Given the description of an element on the screen output the (x, y) to click on. 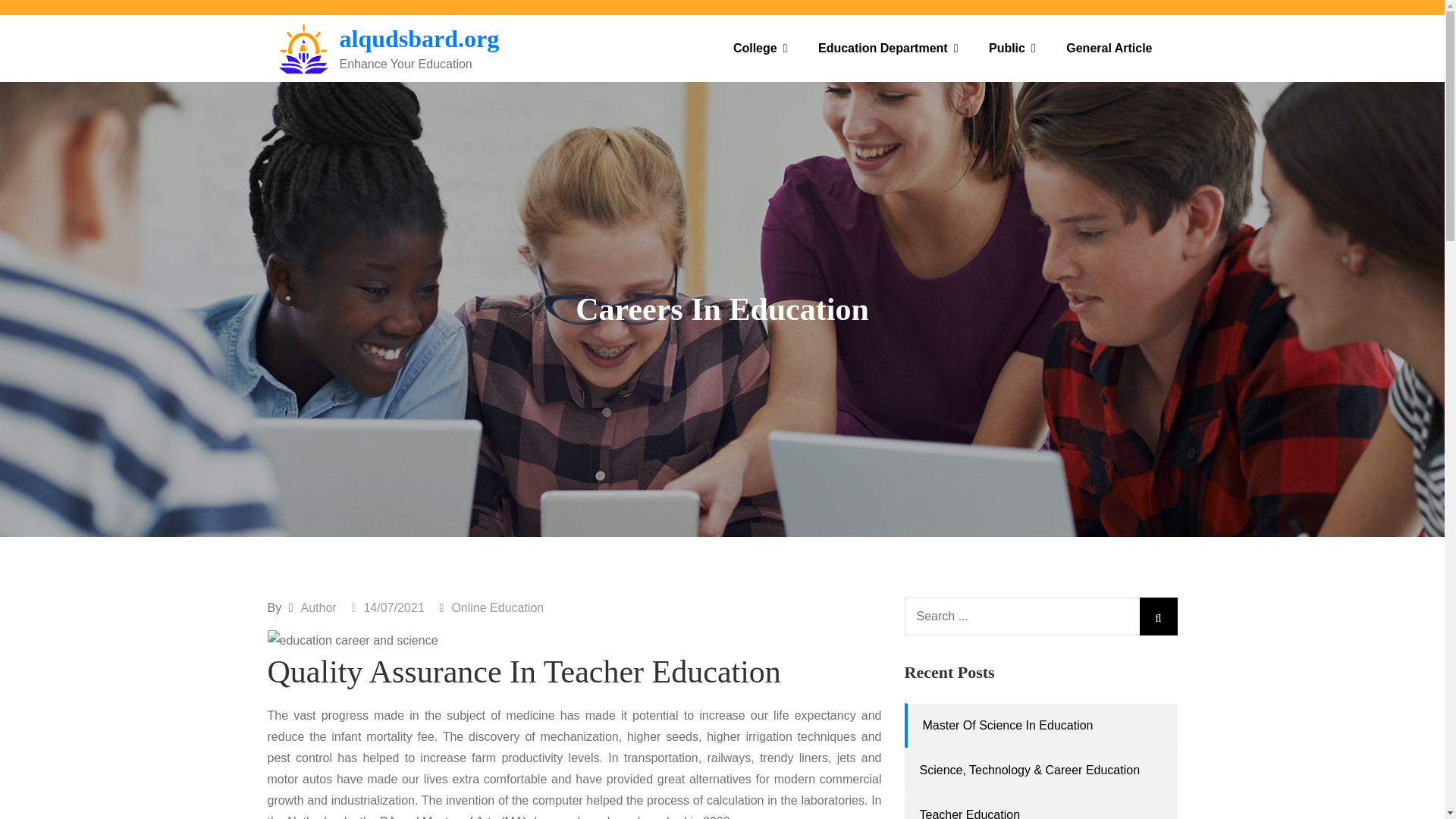
Master Of Science In Education (1007, 725)
Education Department (888, 48)
Teacher Education (969, 813)
alqudsbard.org (419, 38)
Search for: (1040, 616)
College (760, 48)
Search (1157, 616)
Author (317, 607)
Public (1012, 48)
General Article (1109, 48)
